Given the description of an element on the screen output the (x, y) to click on. 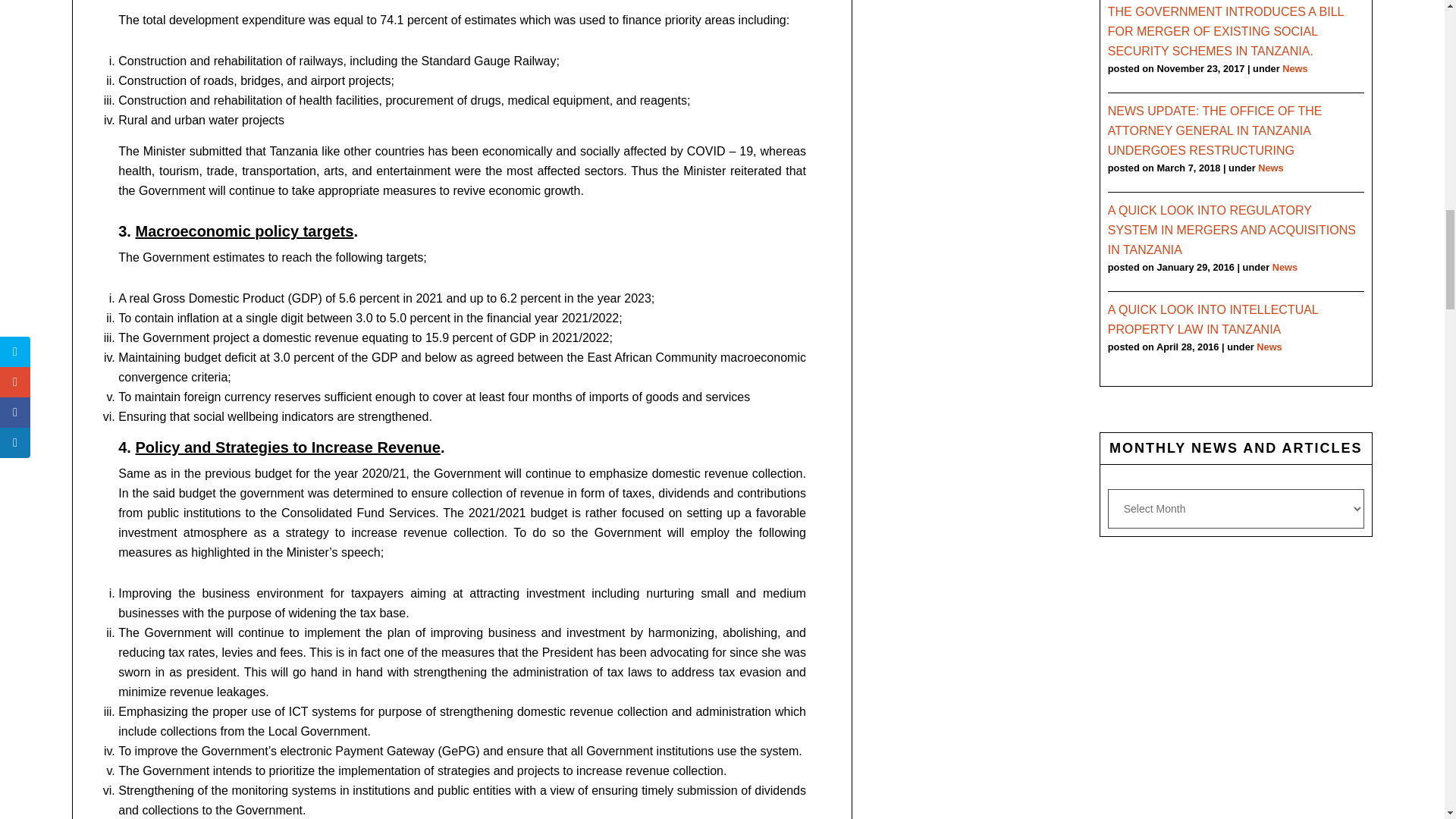
A Quick Look Into Intellectual Property Law in Tanzania (1212, 319)
